Given the description of an element on the screen output the (x, y) to click on. 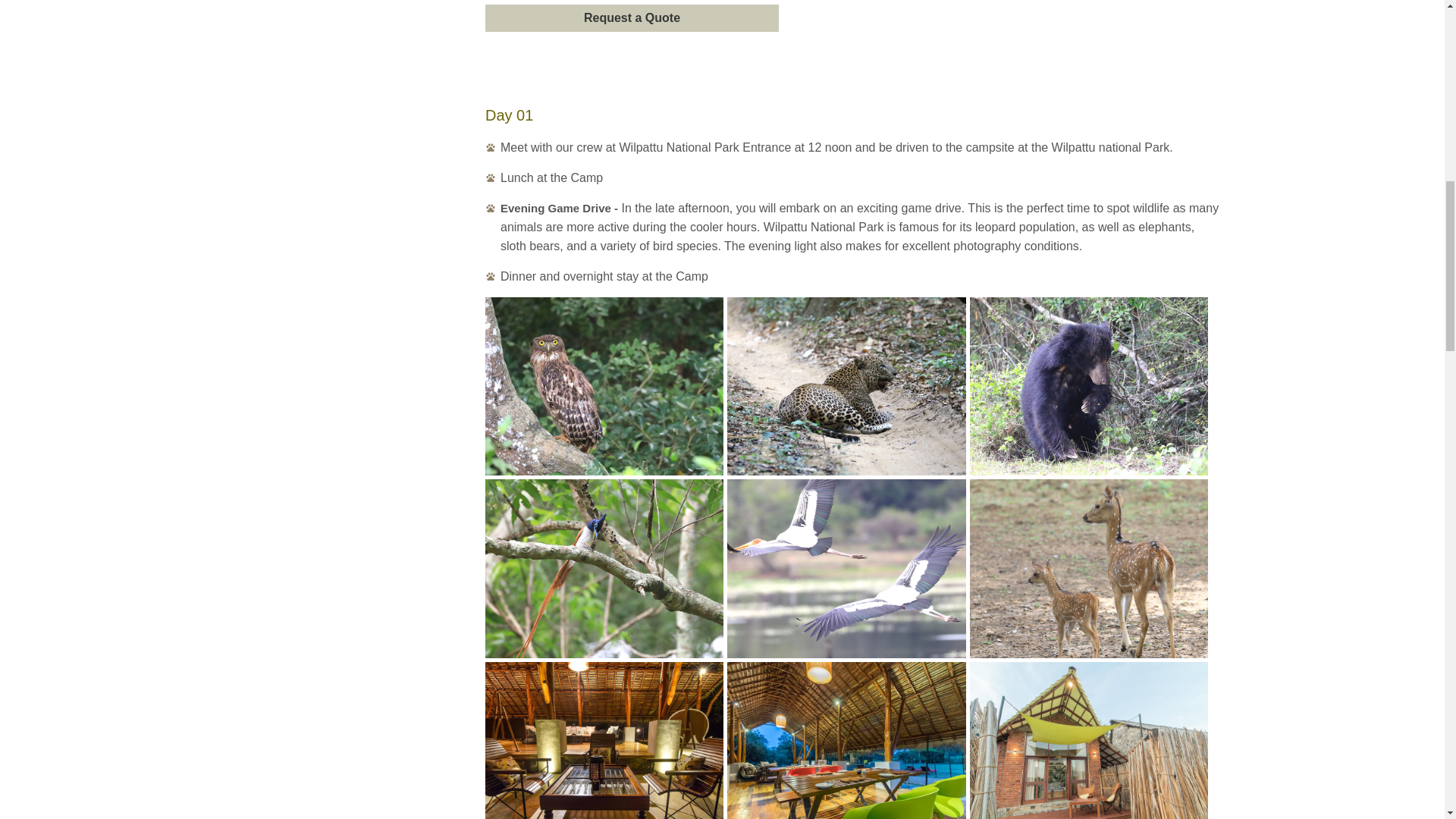
Request a Quote (631, 17)
